Given the description of an element on the screen output the (x, y) to click on. 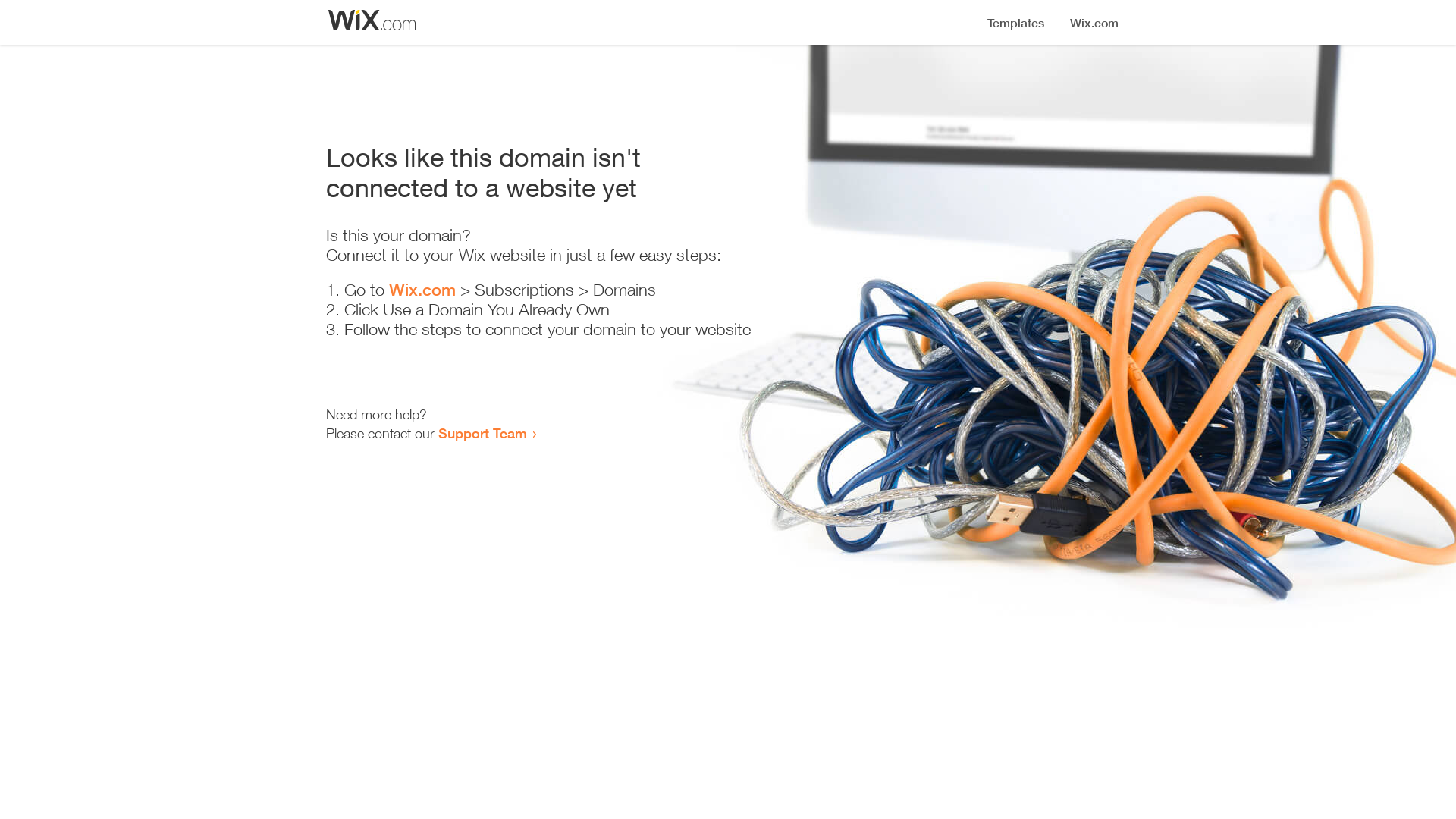
Support Team Element type: text (482, 432)
Wix.com Element type: text (422, 289)
